Given the description of an element on the screen output the (x, y) to click on. 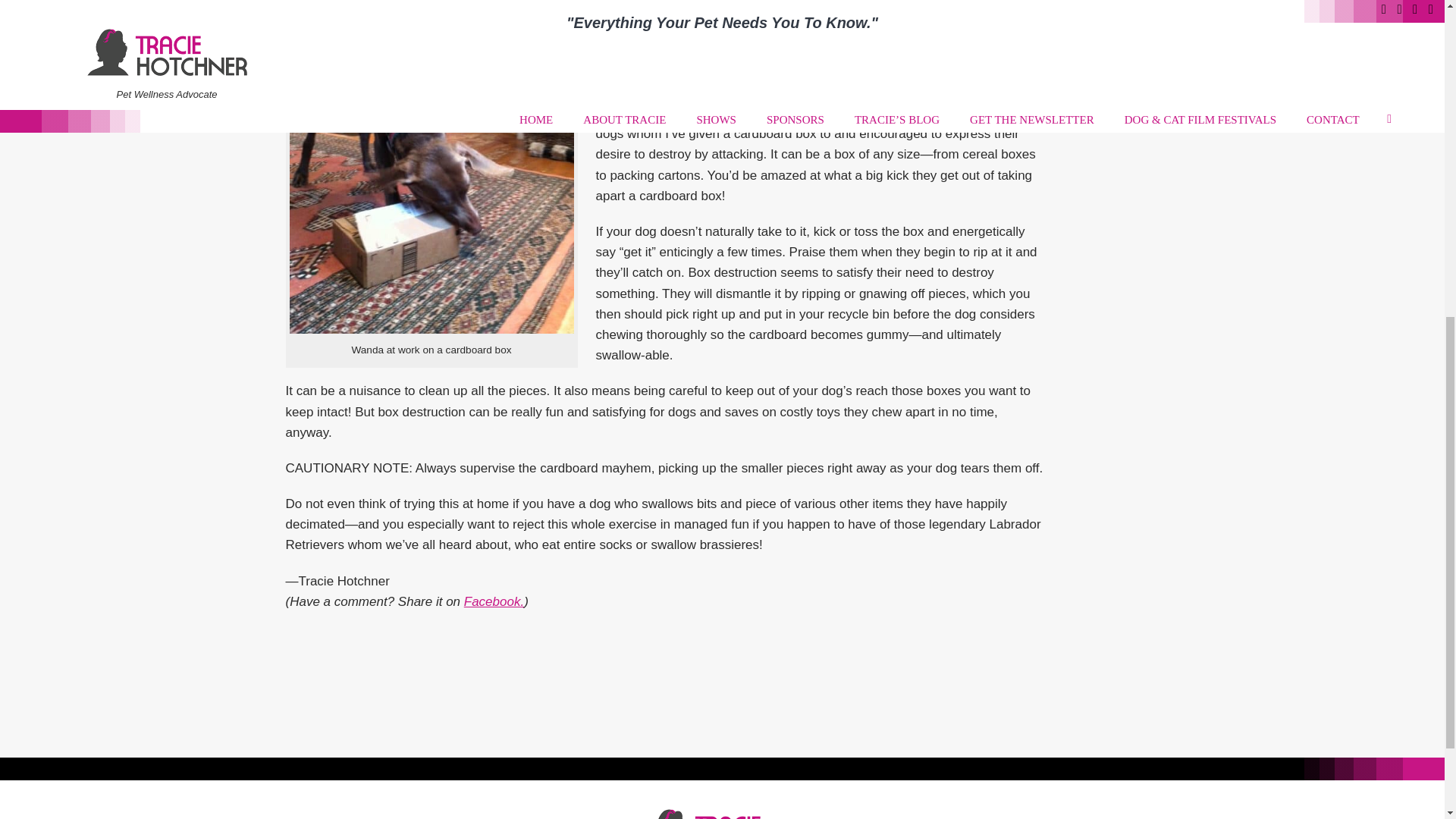
Facebook. (494, 601)
